Given the description of an element on the screen output the (x, y) to click on. 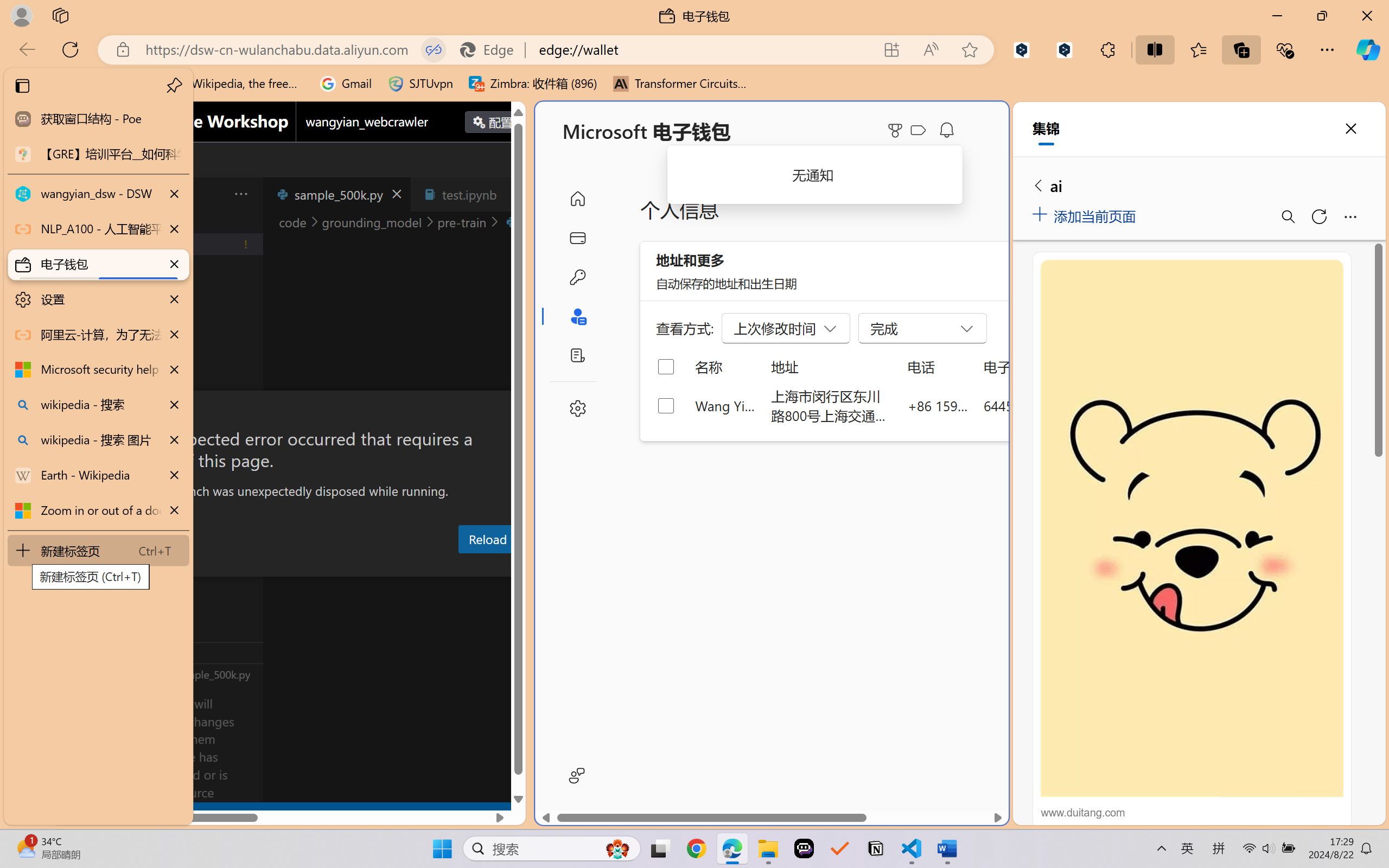
Explorer actions (212, 194)
Problems (Ctrl+Shift+M) (308, 565)
Application Menu (73, 194)
sample_500k.py (336, 194)
Extensions (Ctrl+Shift+X) (73, 422)
Output (Ctrl+Shift+U) (377, 565)
Transformer Circuits Thread (680, 83)
Timeline Section (179, 673)
Class: actions-container (287, 410)
